Given the description of an element on the screen output the (x, y) to click on. 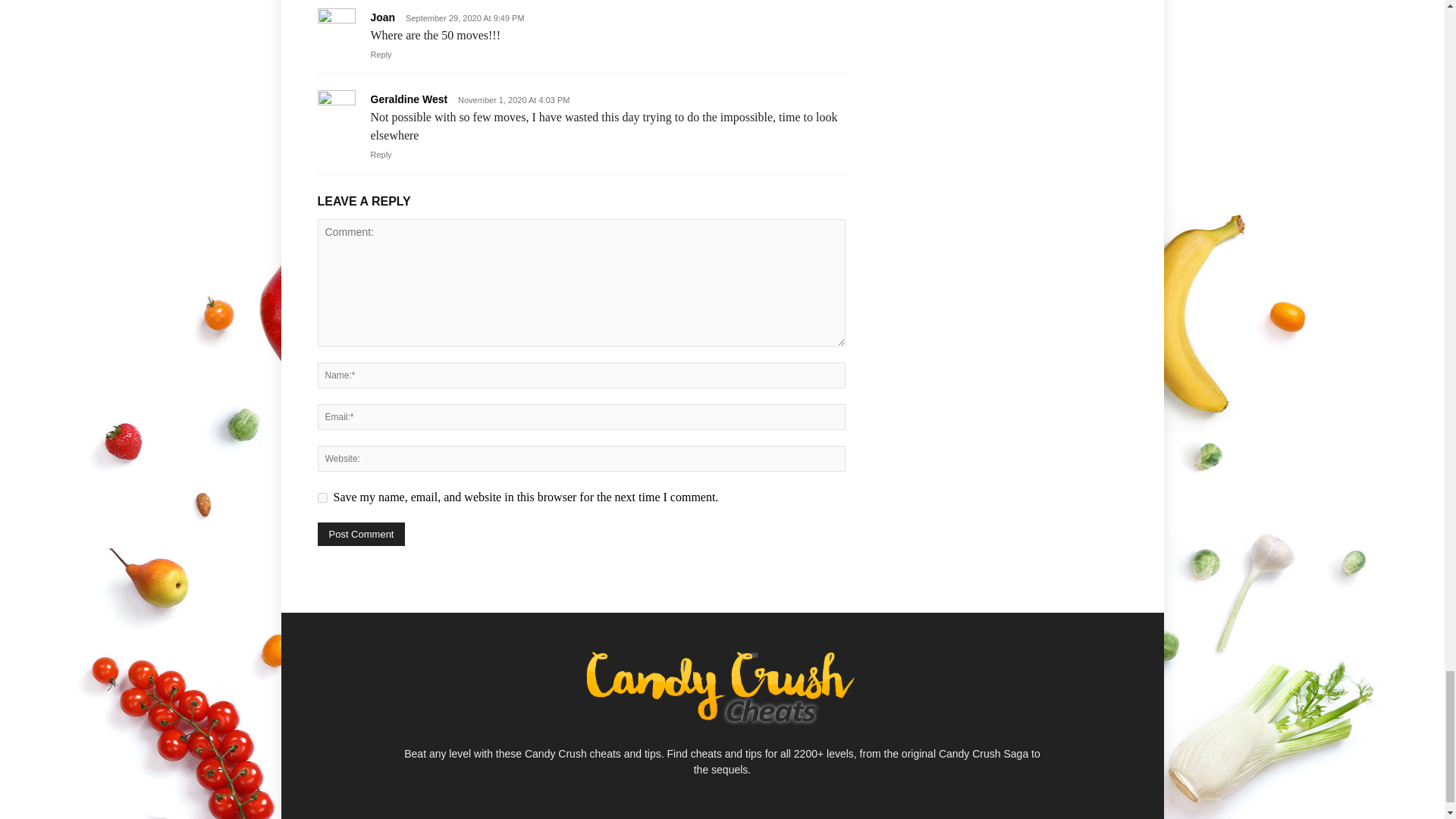
Post Comment (360, 534)
yes (321, 497)
